Given the description of an element on the screen output the (x, y) to click on. 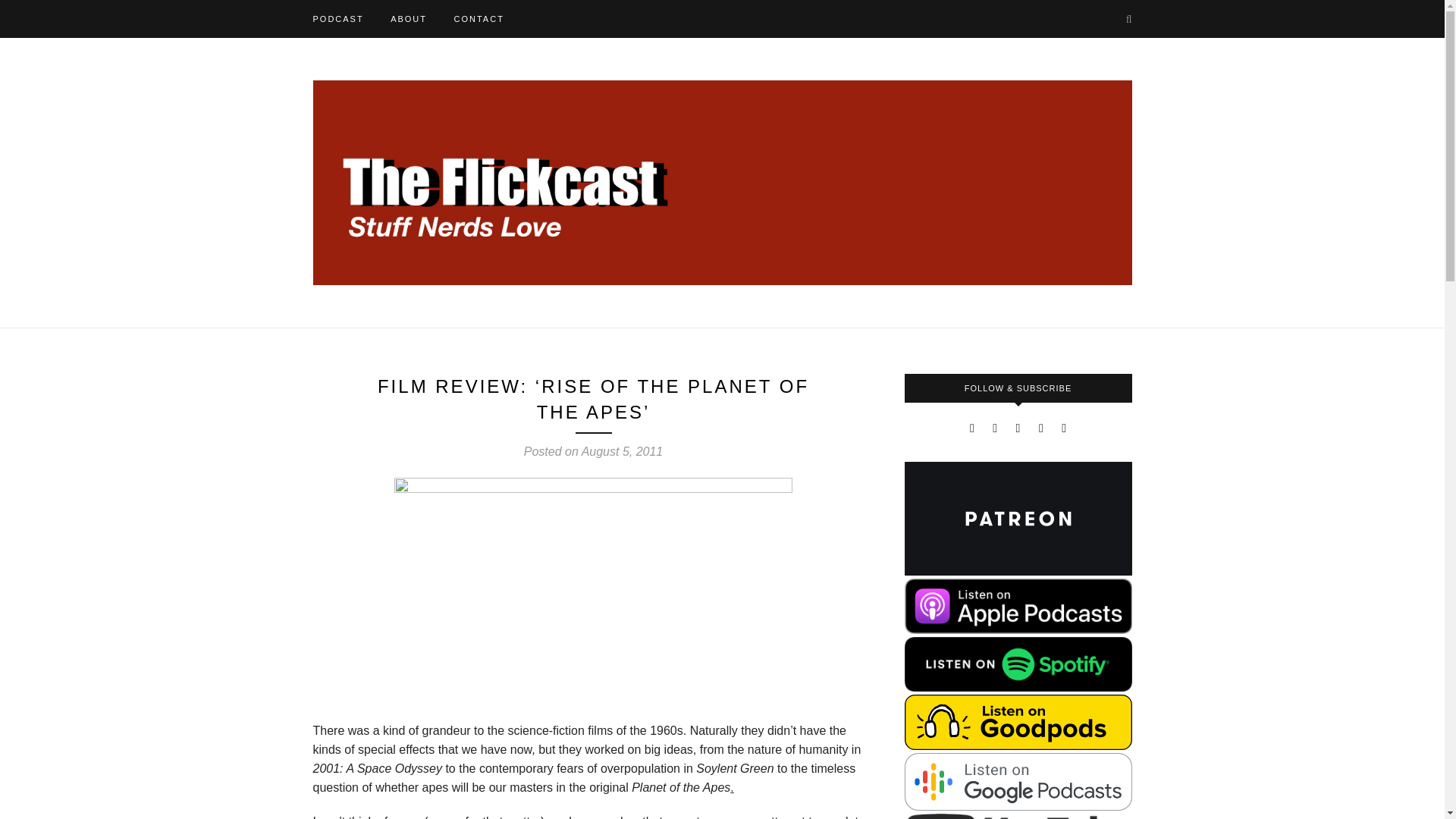
rise (593, 591)
CONTACT (477, 18)
ABOUT (408, 18)
PODCAST (337, 18)
